Given the description of an element on the screen output the (x, y) to click on. 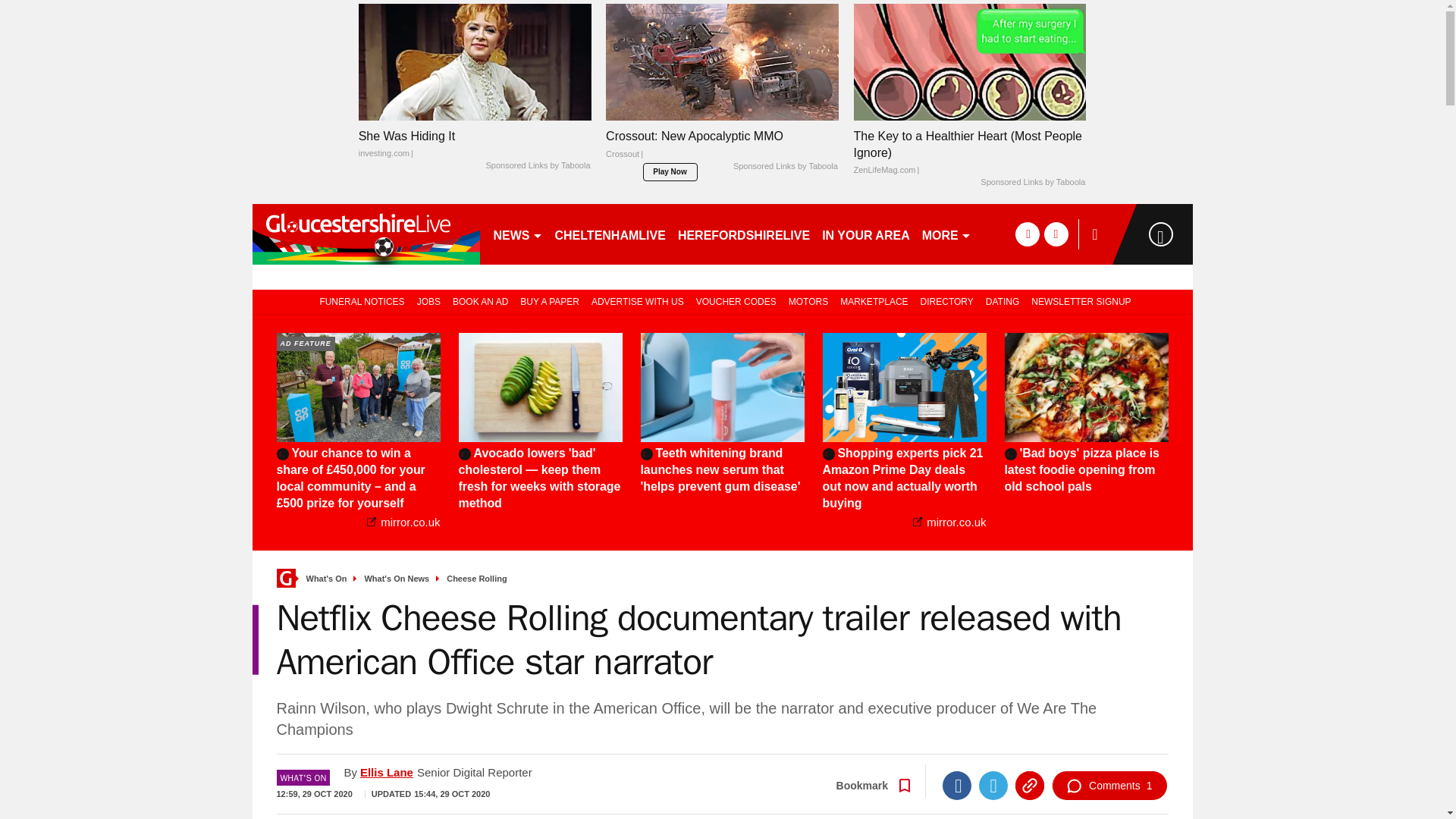
Facebook (956, 785)
Comments (1108, 785)
Twitter (992, 785)
facebook (1026, 233)
Sponsored Links by Taboola (785, 166)
CHELTENHAMLIVE (609, 233)
HEREFORDSHIRELIVE (743, 233)
Sponsored Links by Taboola (536, 165)
Sponsored Links by Taboola (1031, 182)
gloucestershirelive (365, 233)
MORE (945, 233)
twitter (1055, 233)
NEWS (517, 233)
IN YOUR AREA (865, 233)
Crossout: New Apocalyptic MMO (721, 148)
